Given the description of an element on the screen output the (x, y) to click on. 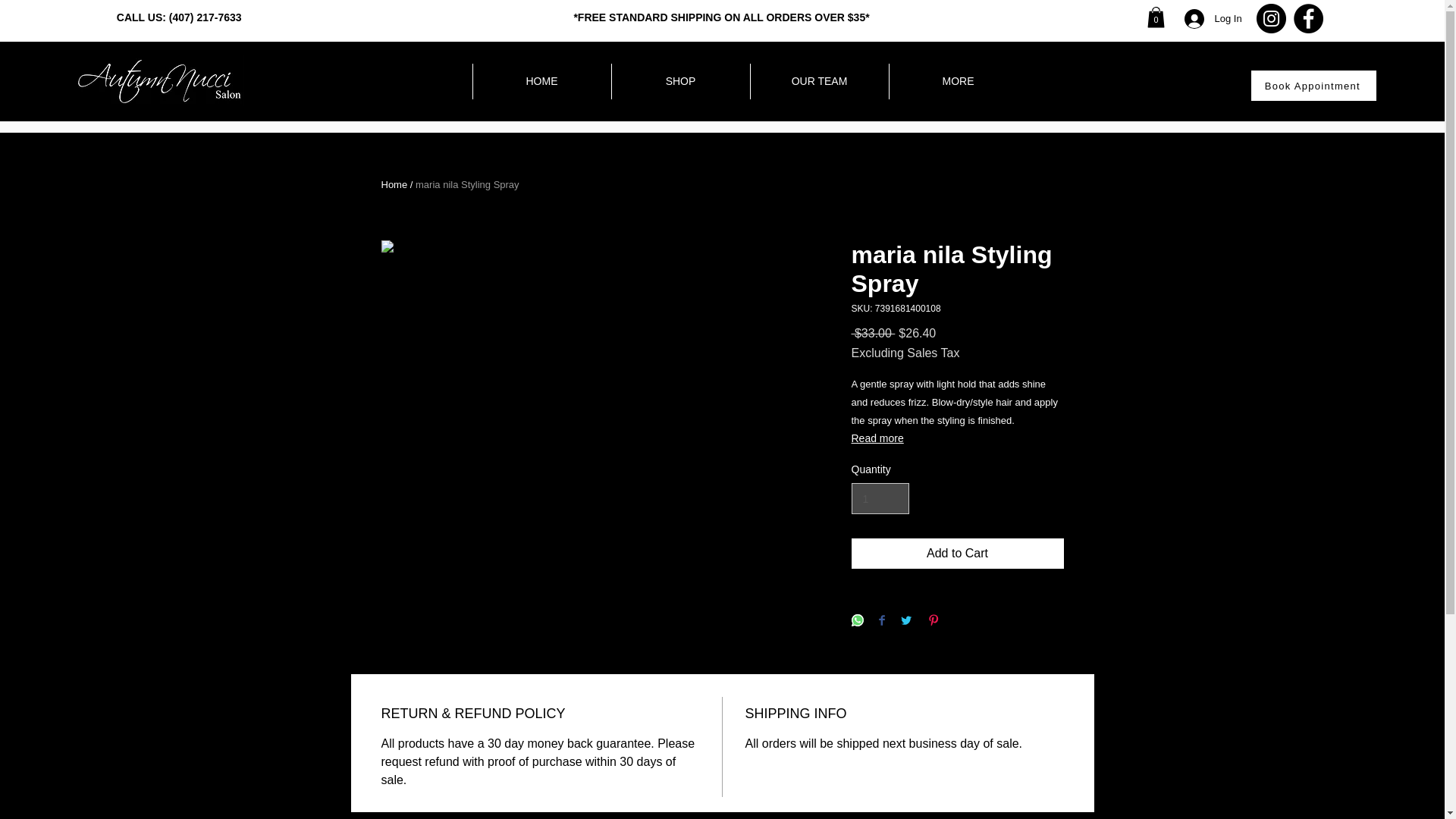
1 (879, 498)
Add to Cart (956, 553)
Book Appointment (1312, 85)
OUR TEAM (818, 81)
HOME (540, 81)
Log In (1212, 18)
Read more (956, 437)
Slide1.jpg (159, 80)
Home (393, 184)
maria nila Styling Spray (466, 184)
